Given the description of an element on the screen output the (x, y) to click on. 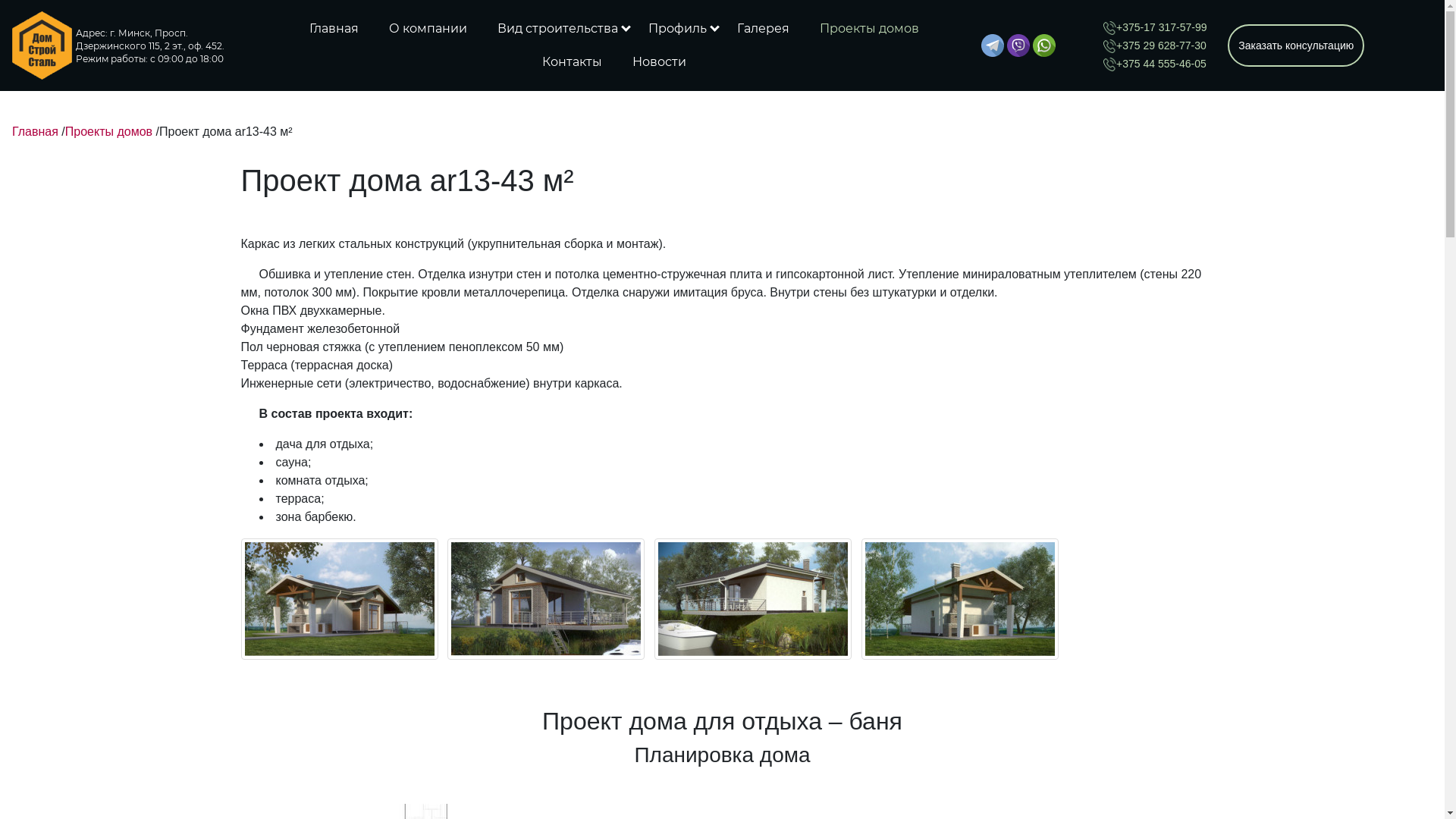
+375 44 555-46-05 Element type: text (1154, 63)
project 1 1 Element type: hover (339, 598)
project 1 4 Element type: hover (959, 598)
+375-17 317-57-99 Element type: text (1154, 27)
+375 29 628-77-30 Element type: text (1154, 45)
project 1 3 Element type: hover (752, 598)
project 1 2 Element type: hover (545, 598)
